Given the description of an element on the screen output the (x, y) to click on. 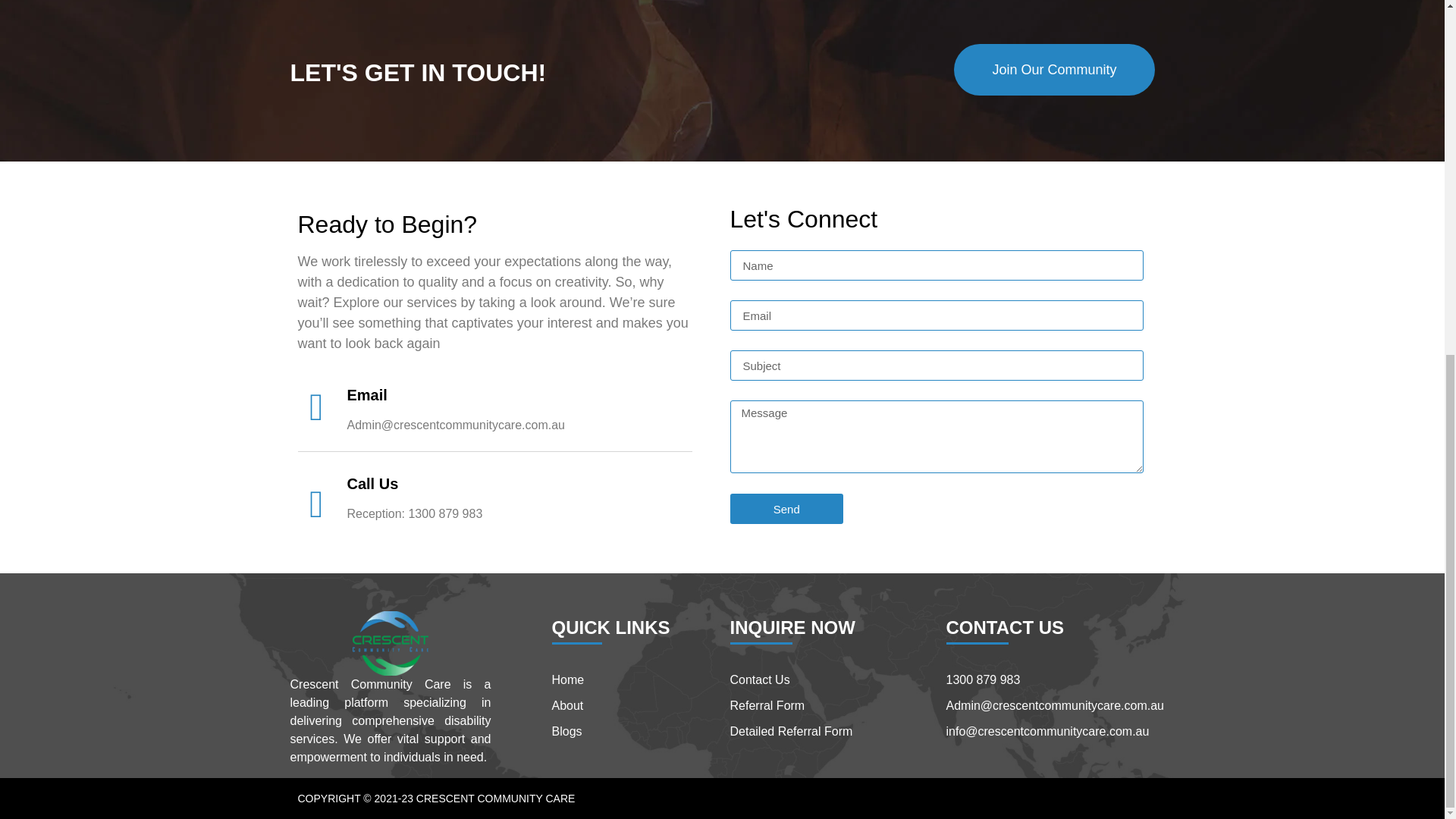
Crescent-Community-Care-logo (390, 642)
